Given the description of an element on the screen output the (x, y) to click on. 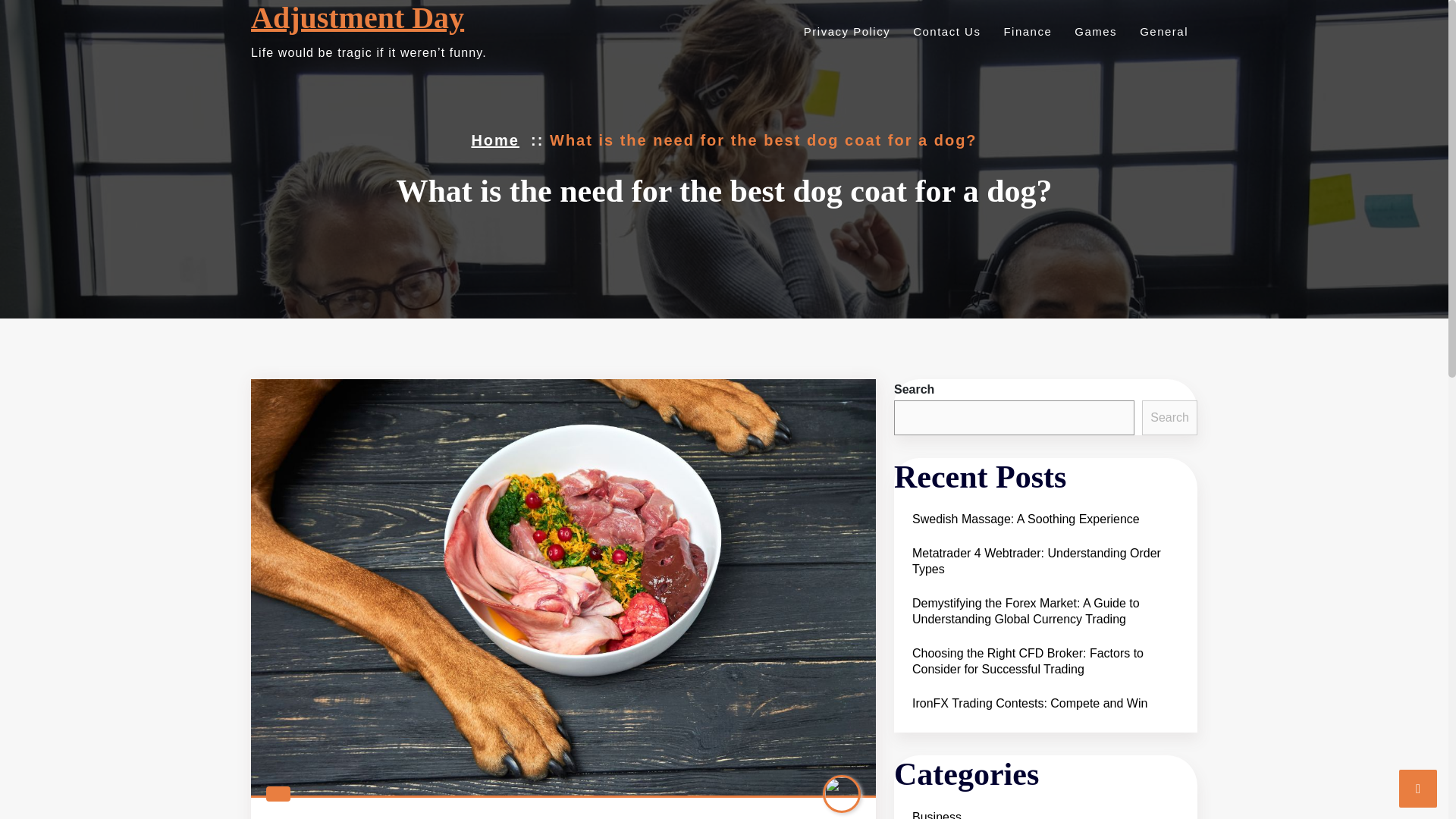
Business (935, 811)
General (1161, 31)
Home (494, 139)
Games (1093, 31)
Games (1093, 31)
Search (1168, 417)
Swedish Massage: A Soothing Experience (1025, 519)
General (1161, 31)
Adjustment Day (357, 17)
Privacy Policy (844, 31)
Finance (1024, 31)
Privacy Policy (844, 31)
IronFX Trading Contests: Compete and Win (1029, 703)
